Given the description of an element on the screen output the (x, y) to click on. 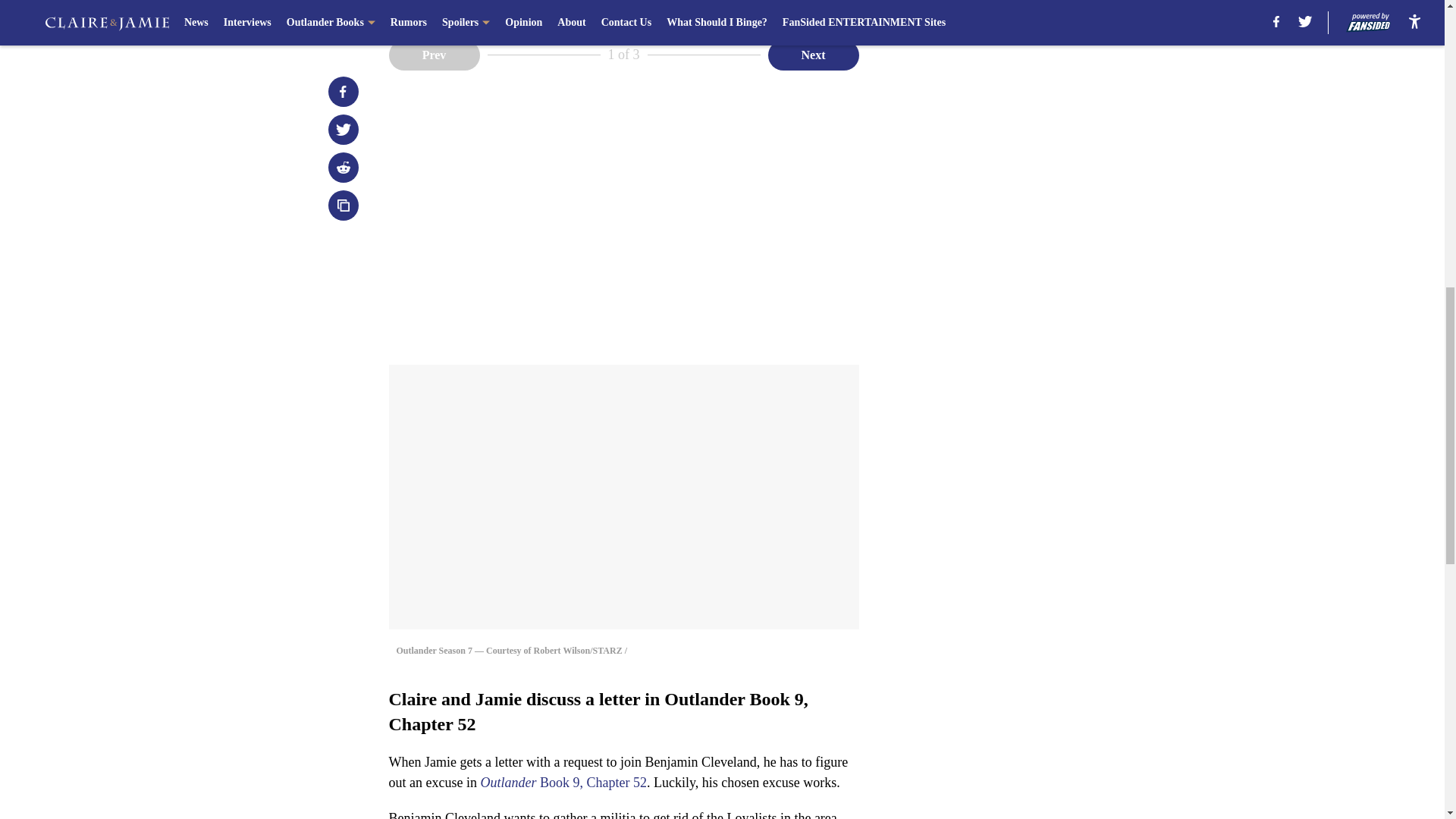
Next (813, 54)
Outlander Book 9, Chapter 52 (563, 782)
Prev (433, 54)
